Given the description of an element on the screen output the (x, y) to click on. 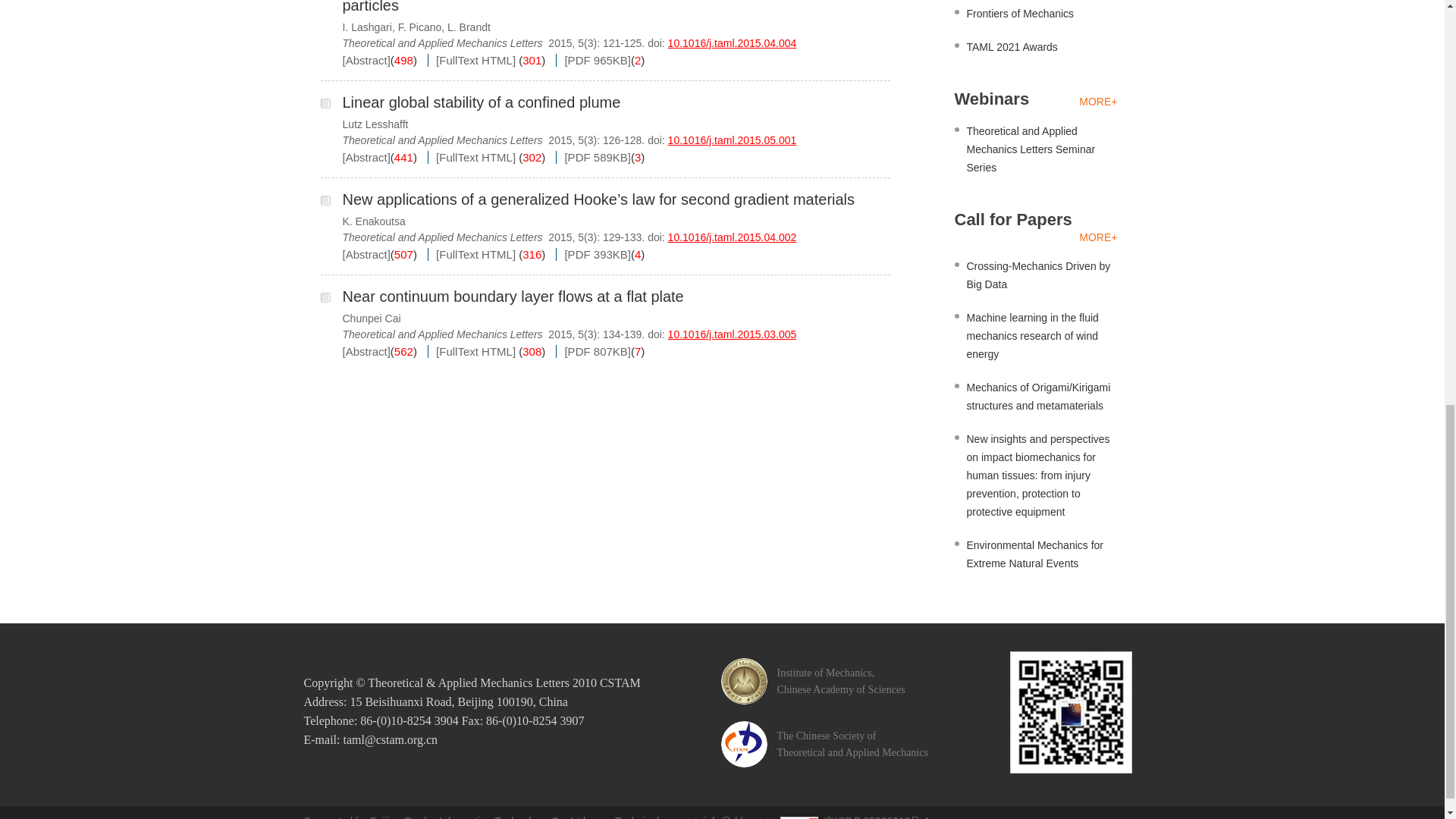
25593dbc-913d-428d-bdb0-209cf321cea6 (325, 200)
0d4a6895-9704-4422-9fe2-e655c6c1c4c8 (325, 103)
b904735c-9aaa-474d-b29c-32a49acb7764 (325, 297)
